Given the description of an element on the screen output the (x, y) to click on. 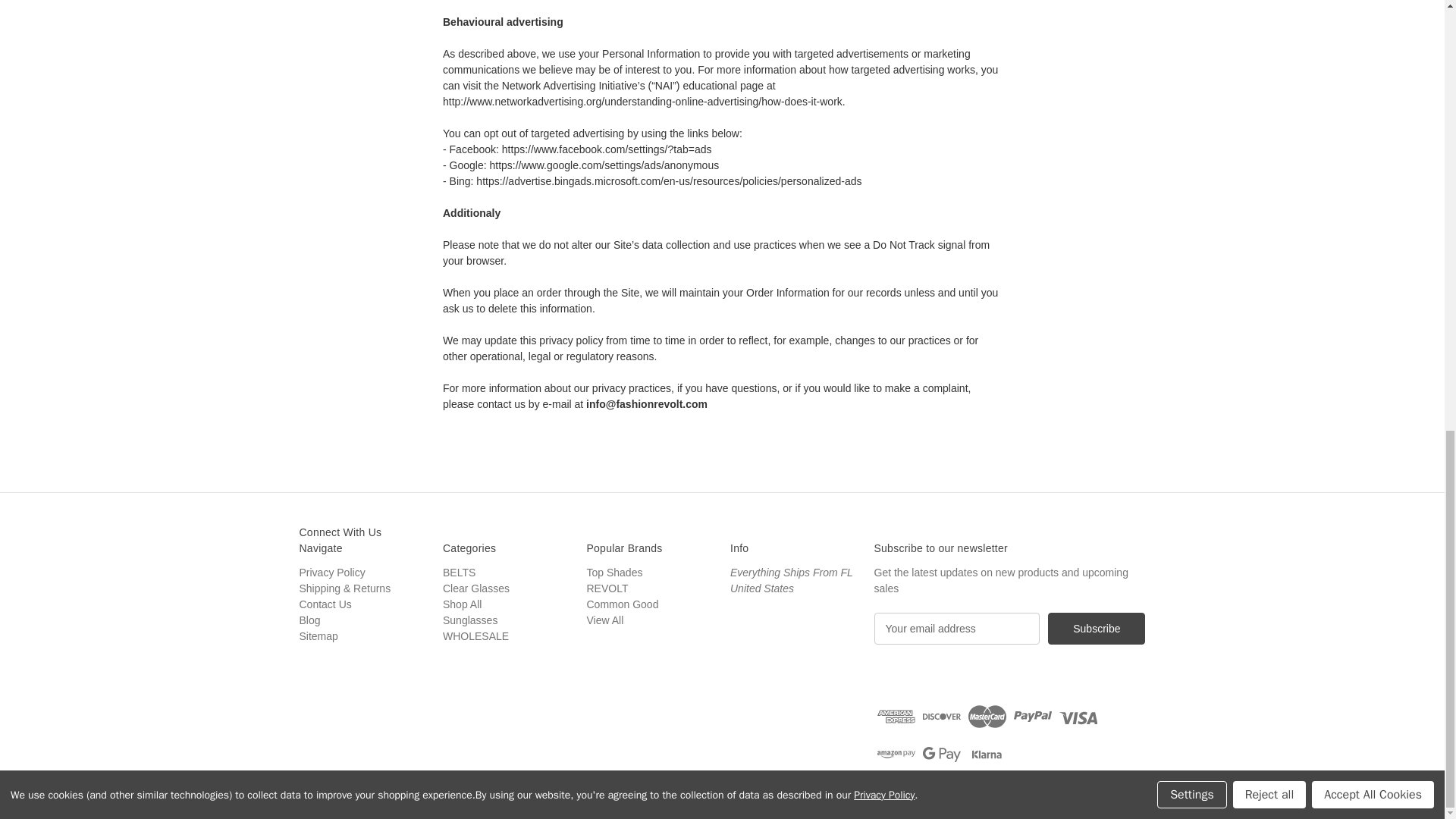
Amazon Pay (896, 754)
Discover (941, 716)
PayPal (1032, 716)
Mastercard (987, 716)
Visa (1078, 716)
American Express (896, 716)
Klarna (987, 754)
Google Pay (941, 754)
Subscribe (1096, 628)
